Given the description of an element on the screen output the (x, y) to click on. 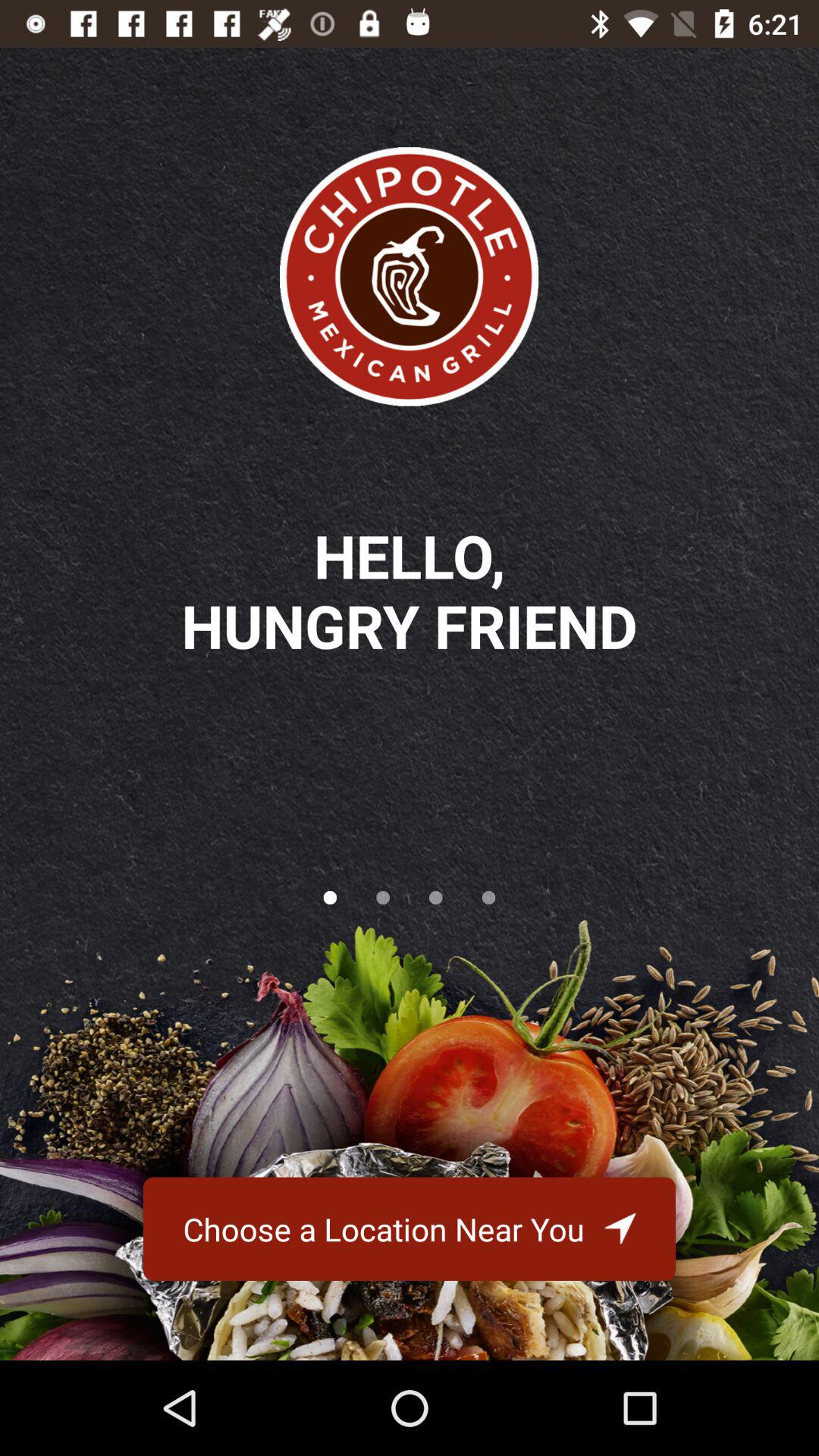
flip to choose a location item (409, 1228)
